Given the description of an element on the screen output the (x, y) to click on. 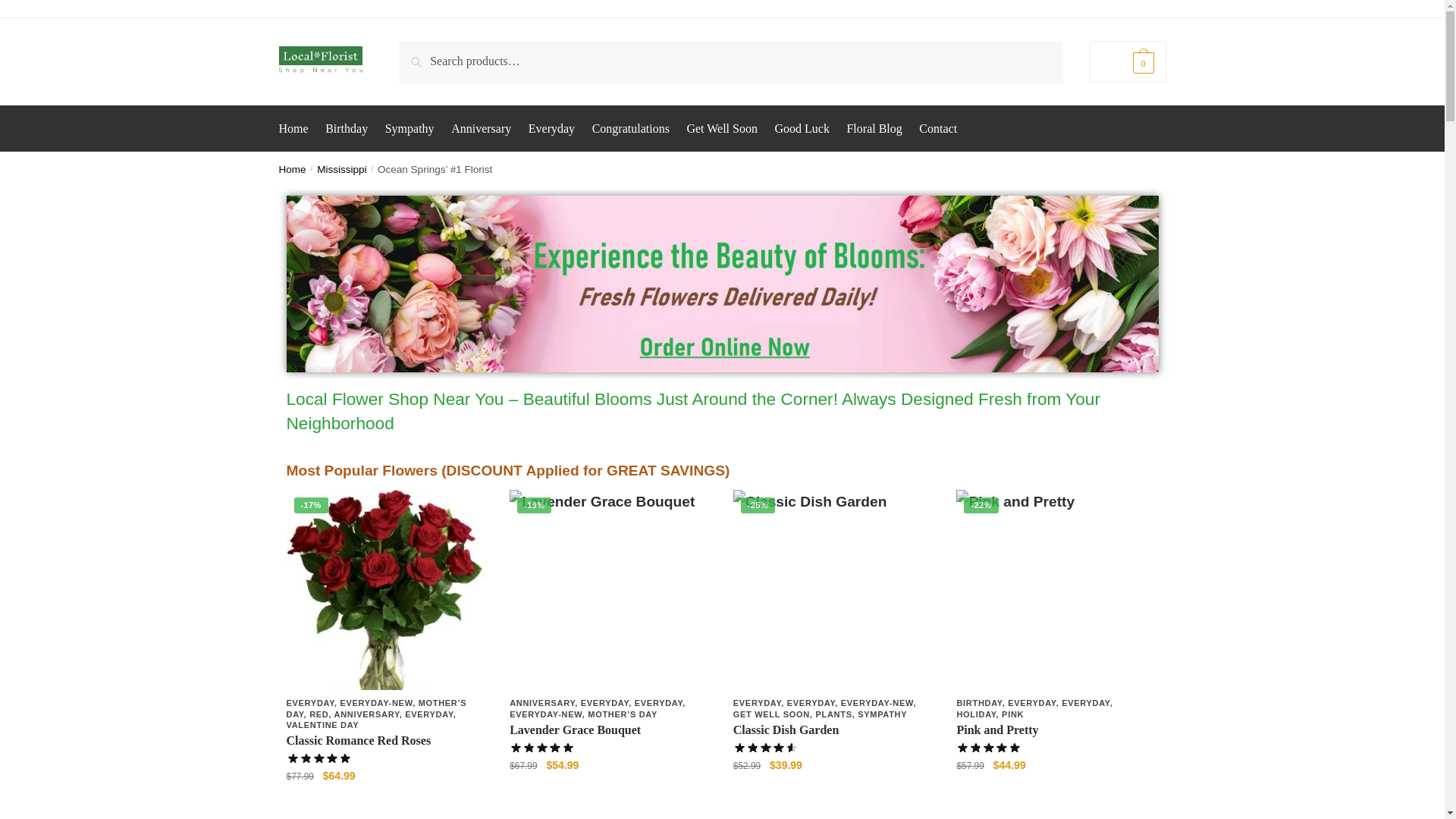
ANNIVERSARY (366, 714)
Anniversary (481, 128)
Classic Dish Garden (833, 590)
Contact (937, 128)
Congratulations (631, 128)
EVERYDAY (428, 714)
Classic Romance Red Roses (386, 741)
Bonus Program (801, 9)
Sympathy (409, 128)
EVERYDAY-NEW (375, 702)
Get Well Soon (721, 128)
Everyday (550, 128)
About Florist (727, 9)
Floral Blog (874, 128)
Classic Romance Red Roses (386, 590)
